Given the description of an element on the screen output the (x, y) to click on. 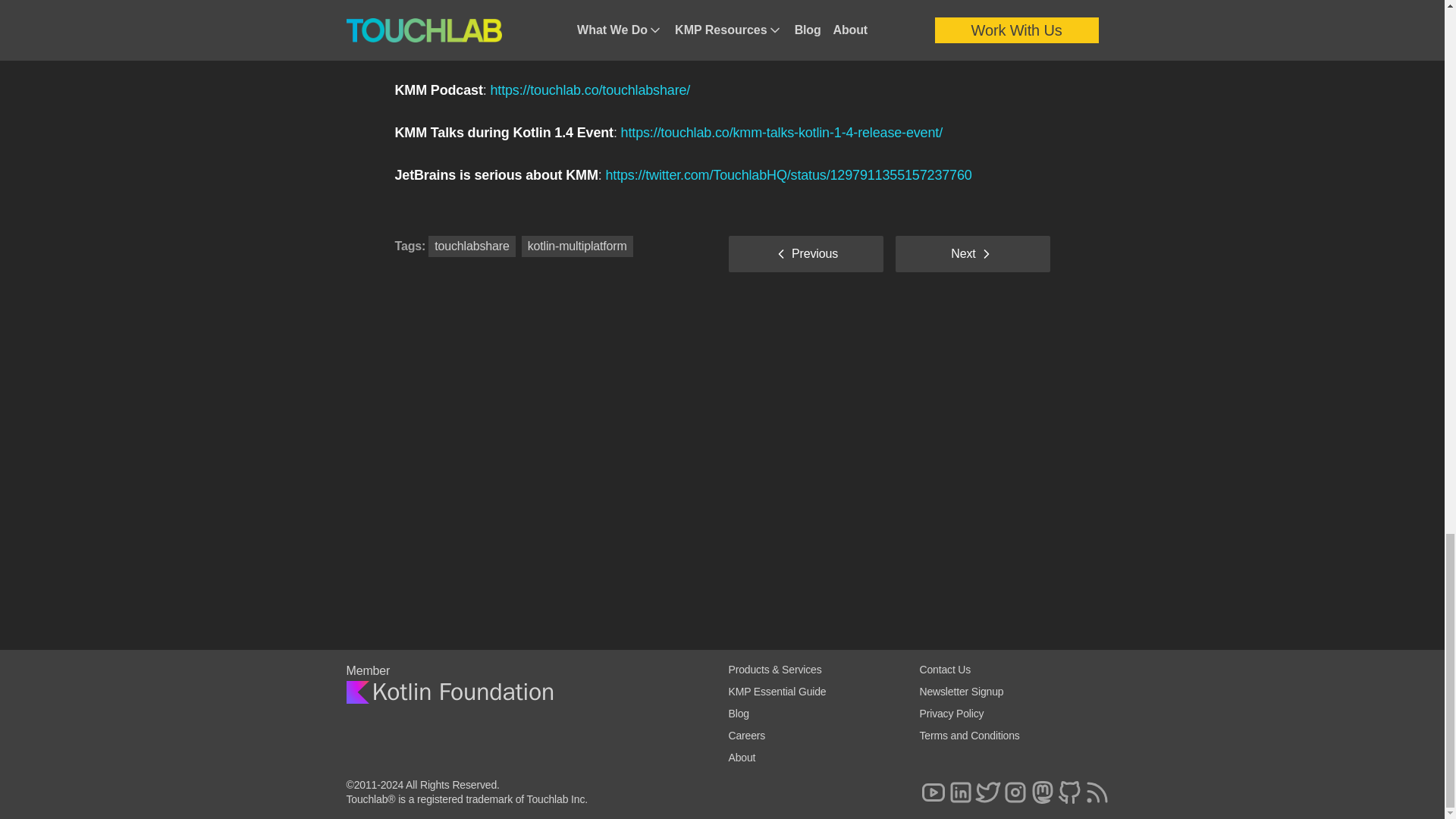
Previous (805, 253)
touchlabshare (470, 245)
kotlin-multiplatform (577, 245)
